Given the description of an element on the screen output the (x, y) to click on. 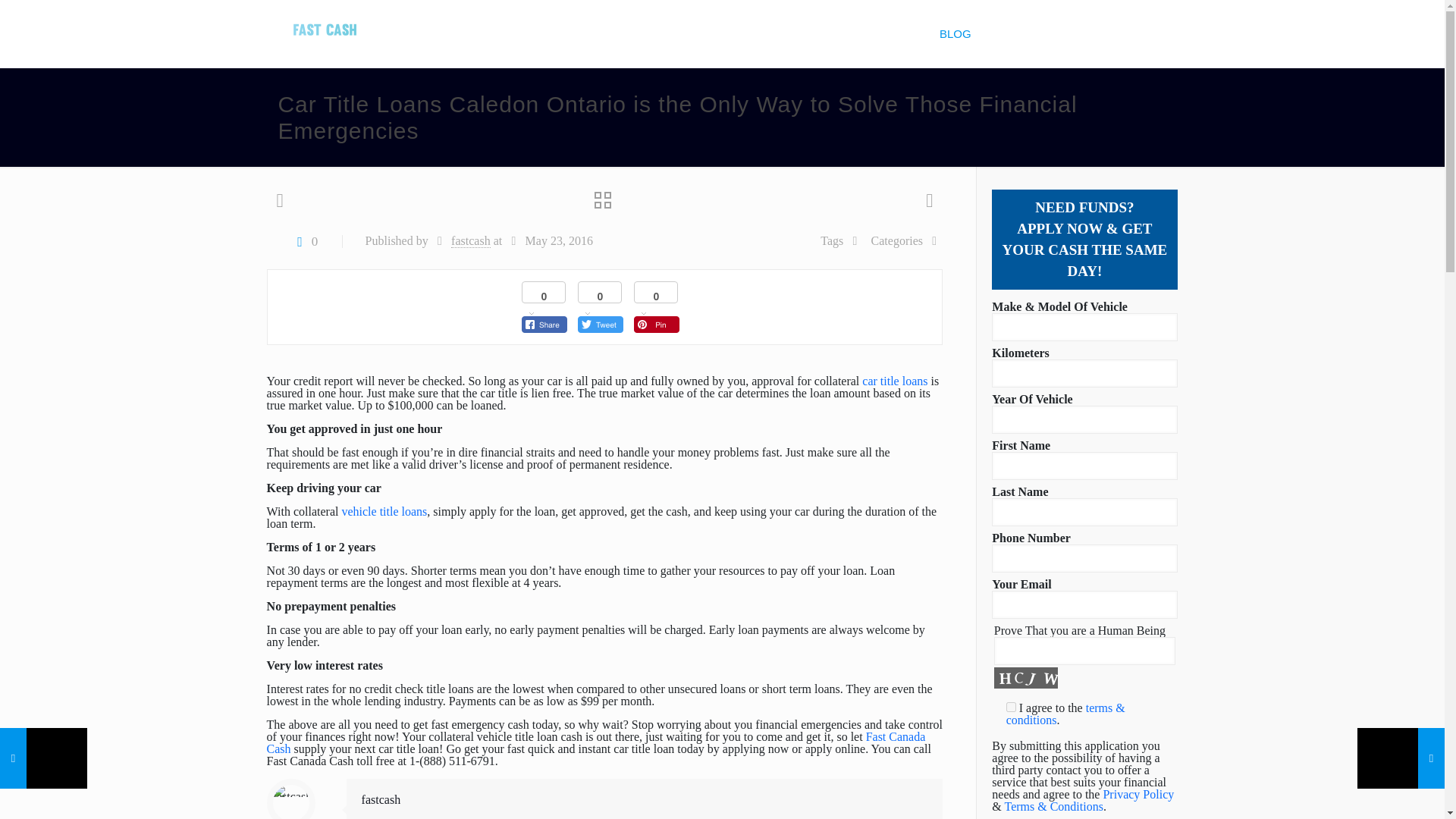
fastcash (470, 241)
1-888-511-6791 (1139, 33)
CONTACT US (1028, 33)
Fast Canada Cash (324, 22)
Fast Canada Cash (596, 742)
0 (303, 241)
1 (1011, 706)
AREA SERVED (790, 33)
fastcash (381, 799)
APPLY NOW (884, 33)
DO I QUALIFY? (688, 33)
vehicle title loans (383, 511)
car title loans (894, 380)
HOW IT WORKS (582, 33)
